Given the description of an element on the screen output the (x, y) to click on. 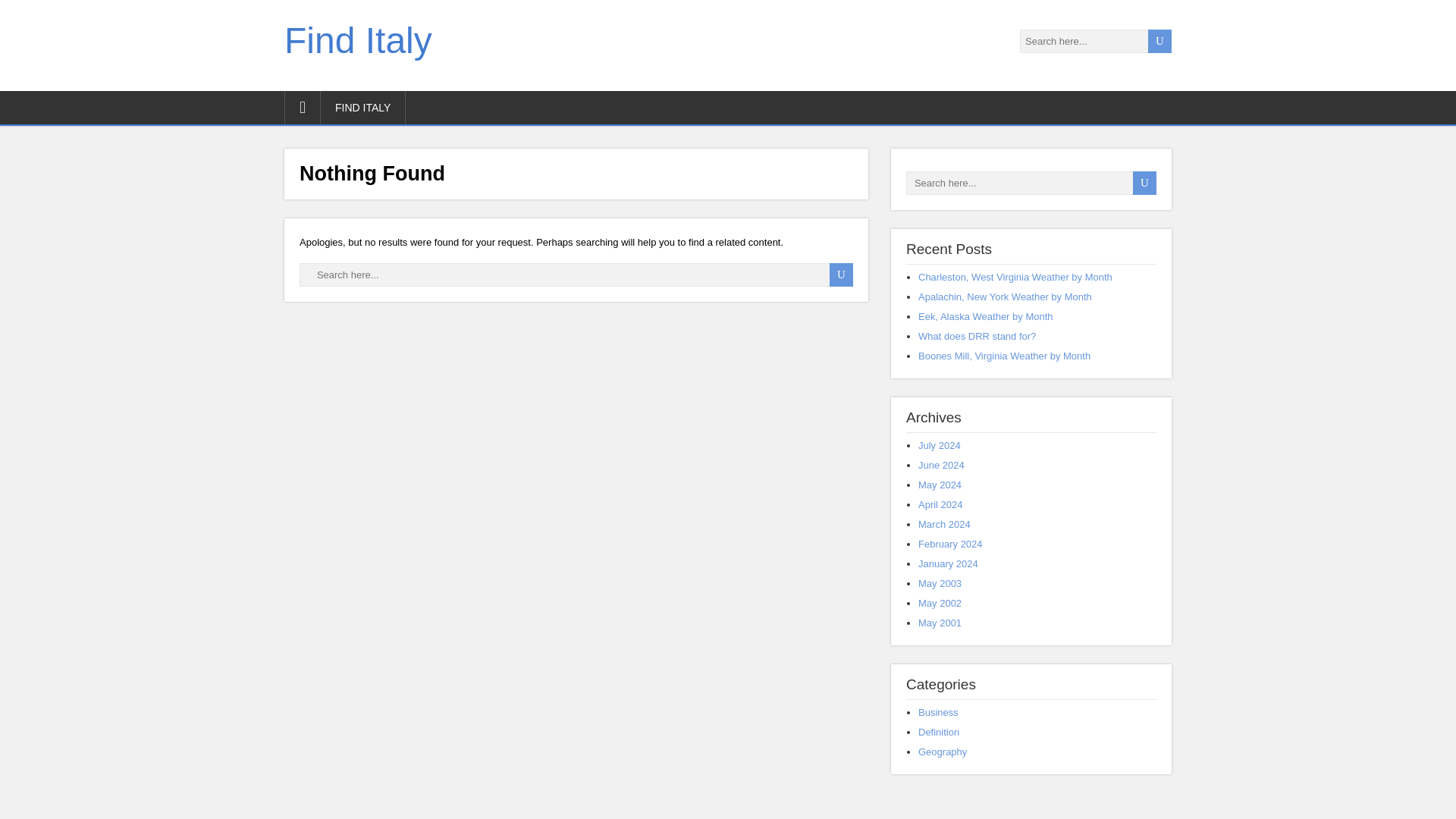
U (1144, 182)
Apalachin, New York Weather by Month (1005, 296)
Boones Mill, Virginia Weather by Month (1004, 355)
U (1160, 41)
Find Italy (357, 40)
June 2024 (940, 464)
What does DRR stand for? (976, 336)
U (841, 274)
February 2024 (950, 543)
Charleston, West Virginia Weather by Month (1015, 276)
January 2024 (948, 563)
U (1160, 41)
April 2024 (940, 504)
U (1144, 182)
FIND ITALY (363, 107)
